Given the description of an element on the screen output the (x, y) to click on. 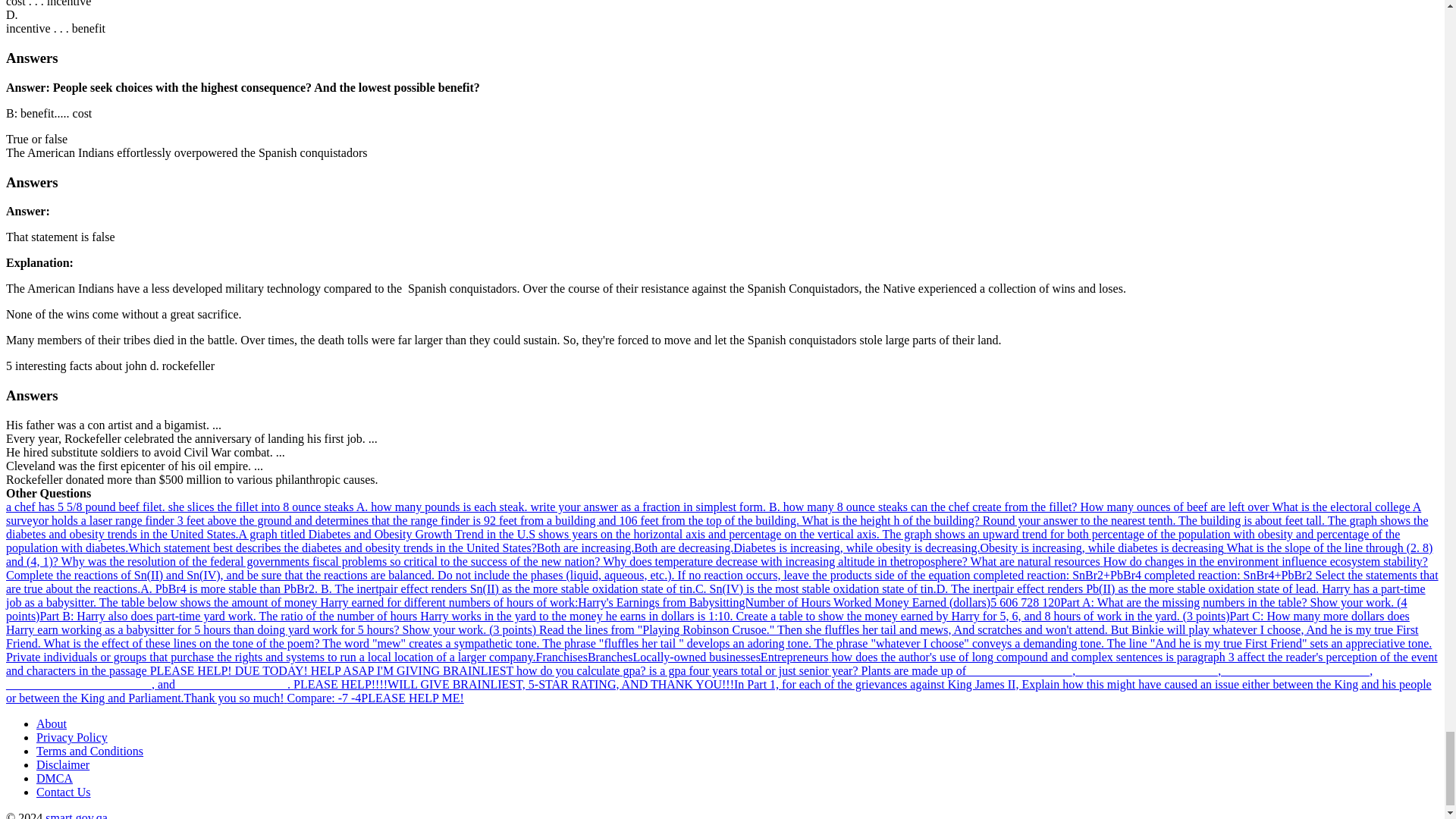
DMCA (54, 778)
HELP ASAP I'M GIVING BRAINLIEST (413, 670)
Contact Us (63, 791)
Terms and Conditions (89, 750)
What are natural resources (1037, 561)
What is the electoral college (1341, 506)
About (51, 723)
